Given the description of an element on the screen output the (x, y) to click on. 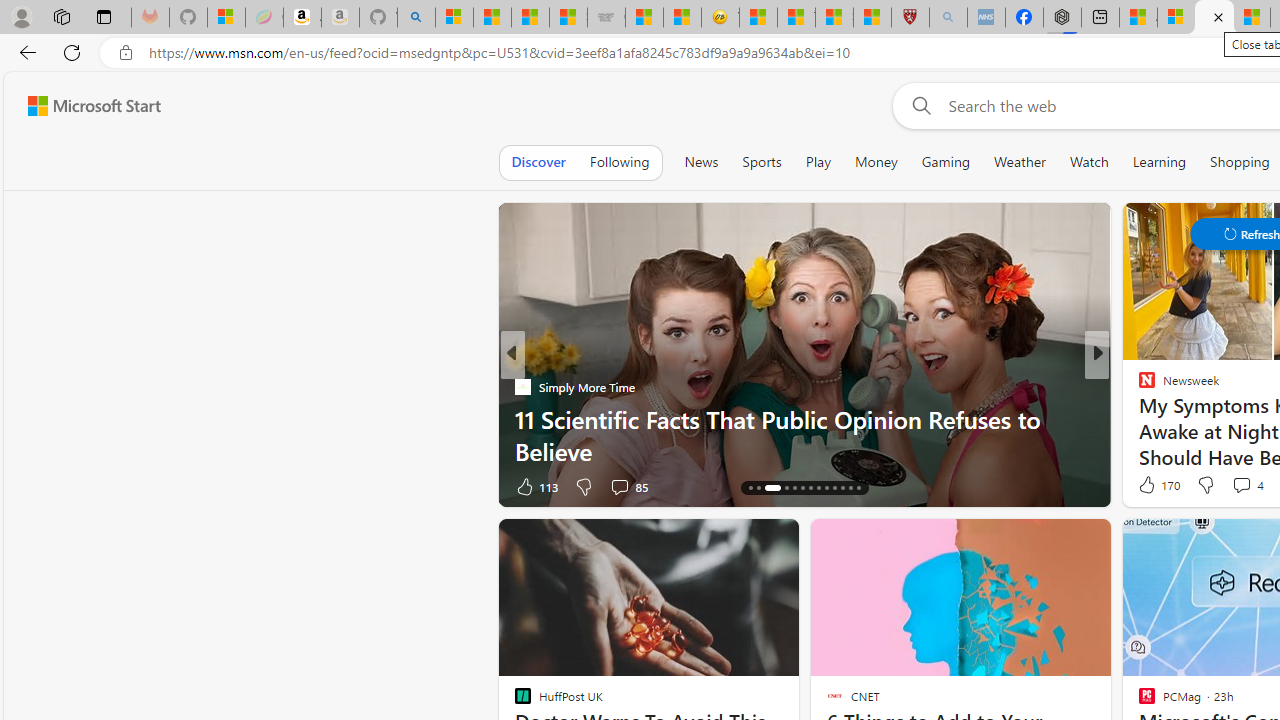
Robert H. Shmerling, MD - Harvard Health (910, 17)
